Given the description of an element on the screen output the (x, y) to click on. 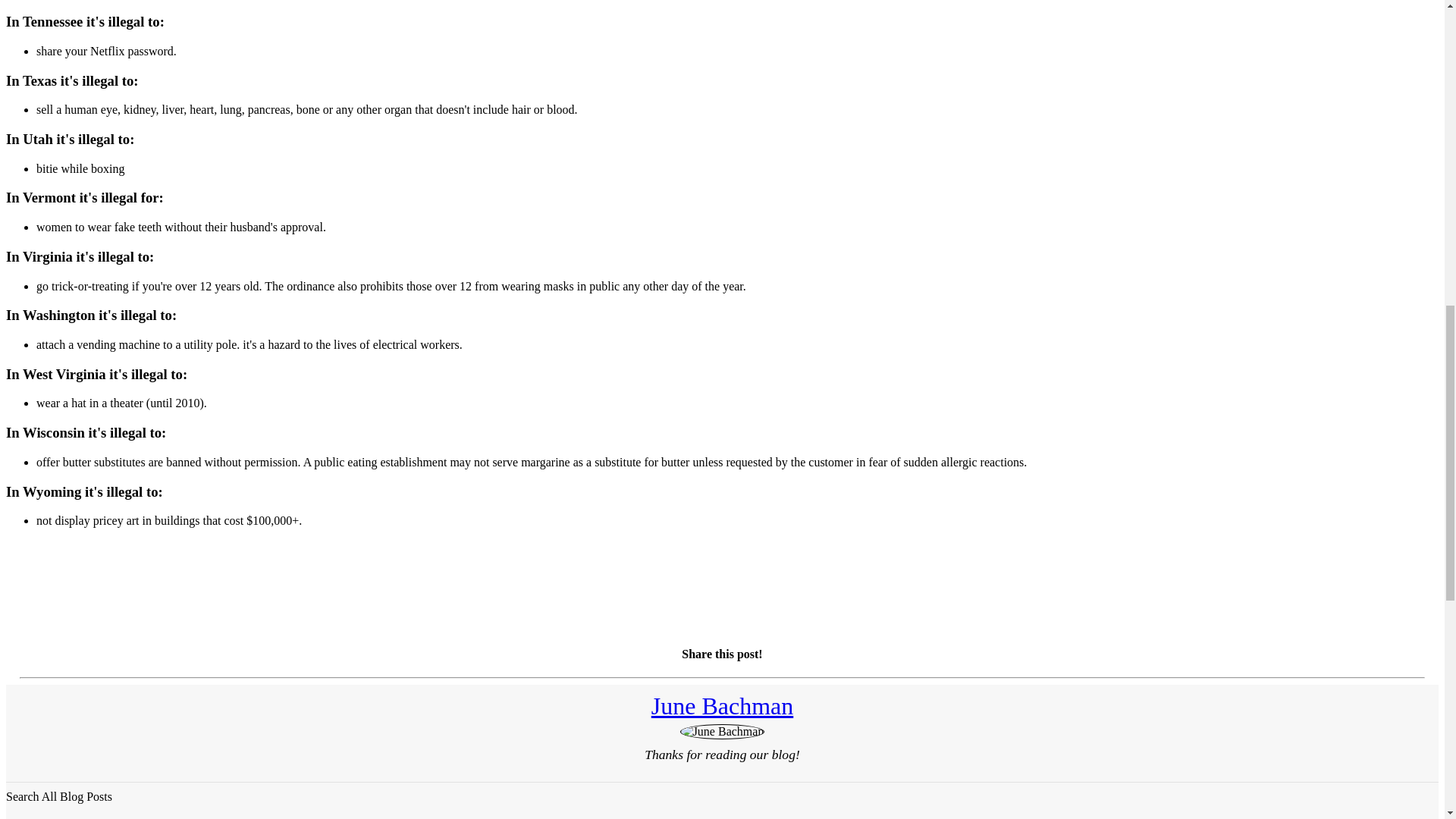
June Bachman (721, 705)
